Given the description of an element on the screen output the (x, y) to click on. 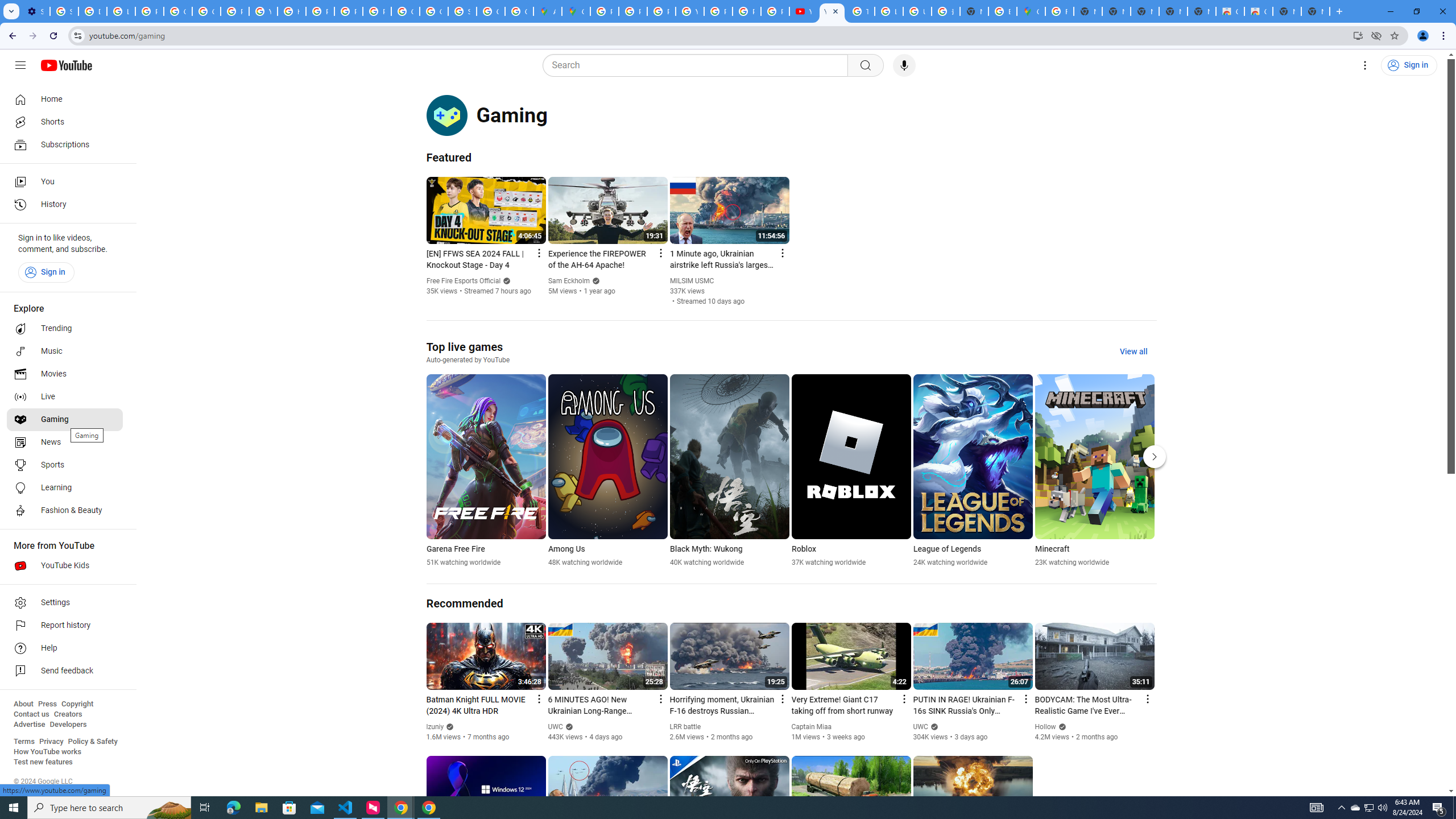
Among Us 48K watching worldwide (607, 470)
Shorts (64, 121)
How YouTube works (47, 751)
Search with your voice (903, 65)
About (23, 703)
Sign in - Google Accounts (63, 11)
Roblox 37K watching worldwide (850, 470)
Music (64, 350)
Privacy Checkup (774, 11)
